Given the description of an element on the screen output the (x, y) to click on. 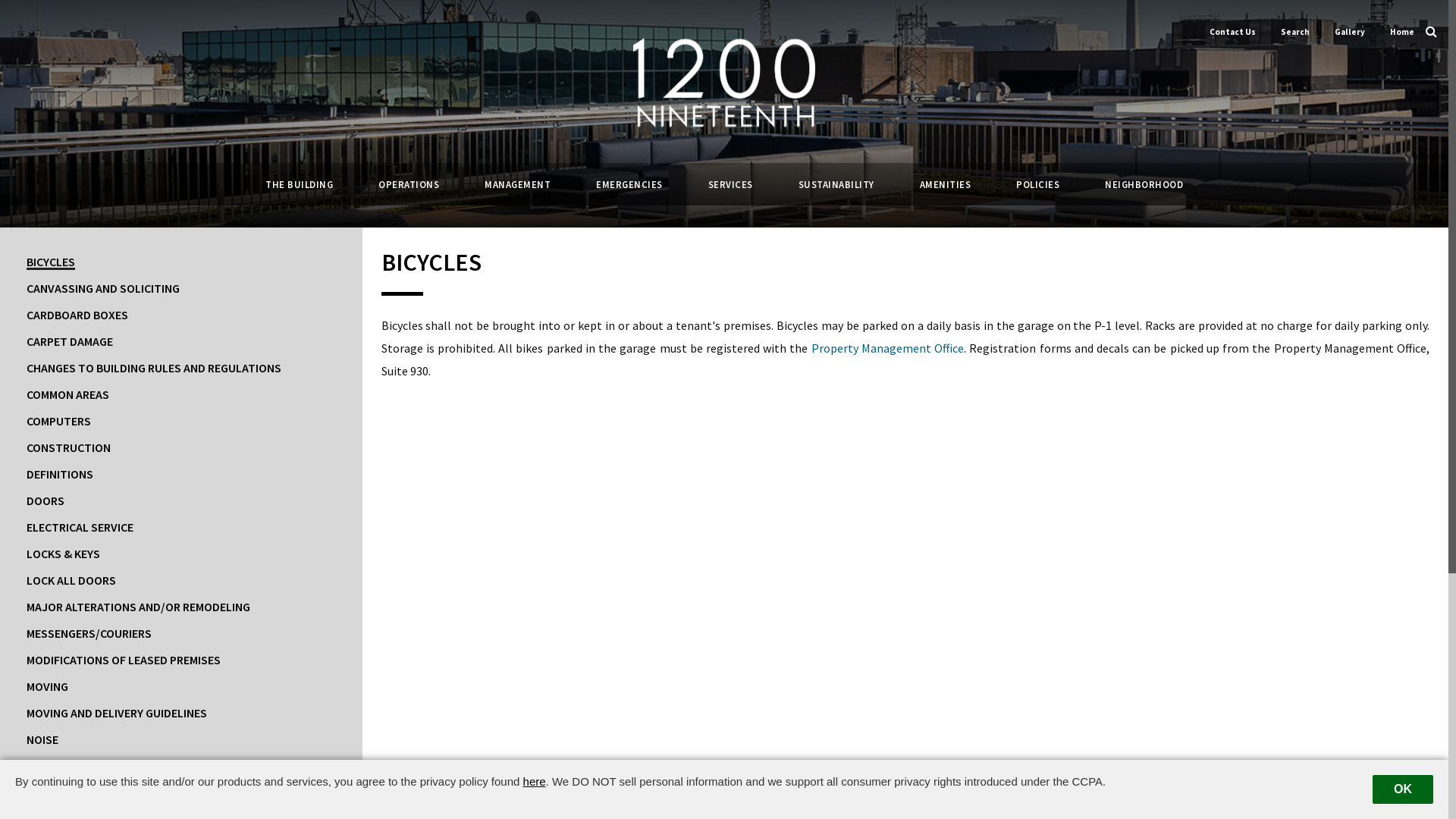
CONSTRUCTION Element type: text (180, 447)
EMERGENCIES Element type: text (629, 184)
MOVING AND DELIVERY GUIDELINES Element type: text (180, 712)
NEIGHBORHOOD Element type: text (1143, 184)
MOVING Element type: text (180, 685)
BICYCLES Element type: text (180, 261)
CANVASSING AND SOLICITING Element type: text (180, 287)
PARKING Element type: text (180, 792)
LOCKS & KEYS Element type: text (180, 553)
AMENITIES Element type: text (944, 184)
MESSENGERS/COURIERS Element type: text (180, 632)
Home Element type: text (1401, 31)
OPERATIONS Element type: text (408, 184)
ELECTRICAL SERVICE Element type: text (180, 526)
SUSTAINABILITY Element type: text (835, 184)
DOORS Element type: text (180, 500)
CARPET DAMAGE Element type: text (180, 340)
Gallery Element type: text (1349, 31)
Search Element type: text (1295, 31)
MODIFICATIONS OF LEASED PREMISES Element type: text (180, 659)
THE BUILDING Element type: text (298, 184)
CHANGES TO BUILDING RULES AND REGULATIONS Element type: text (180, 367)
NOISE Element type: text (180, 738)
Contact Us Element type: text (1232, 31)
DEFINITIONS Element type: text (180, 473)
Property Management Office Element type: text (887, 347)
POLICIES Element type: text (1037, 184)
SERVICES Element type: text (730, 184)
here Element type: text (534, 781)
MANAGEMENT Element type: text (517, 184)
COMPUTERS Element type: text (180, 420)
CARDBOARD BOXES Element type: text (180, 314)
OCCUPANCY Element type: text (180, 765)
LOCK ALL DOORS Element type: text (180, 579)
COMMON AREAS Element type: text (180, 393)
MAJOR ALTERATIONS AND/OR REMODELING Element type: text (180, 606)
